Given the description of an element on the screen output the (x, y) to click on. 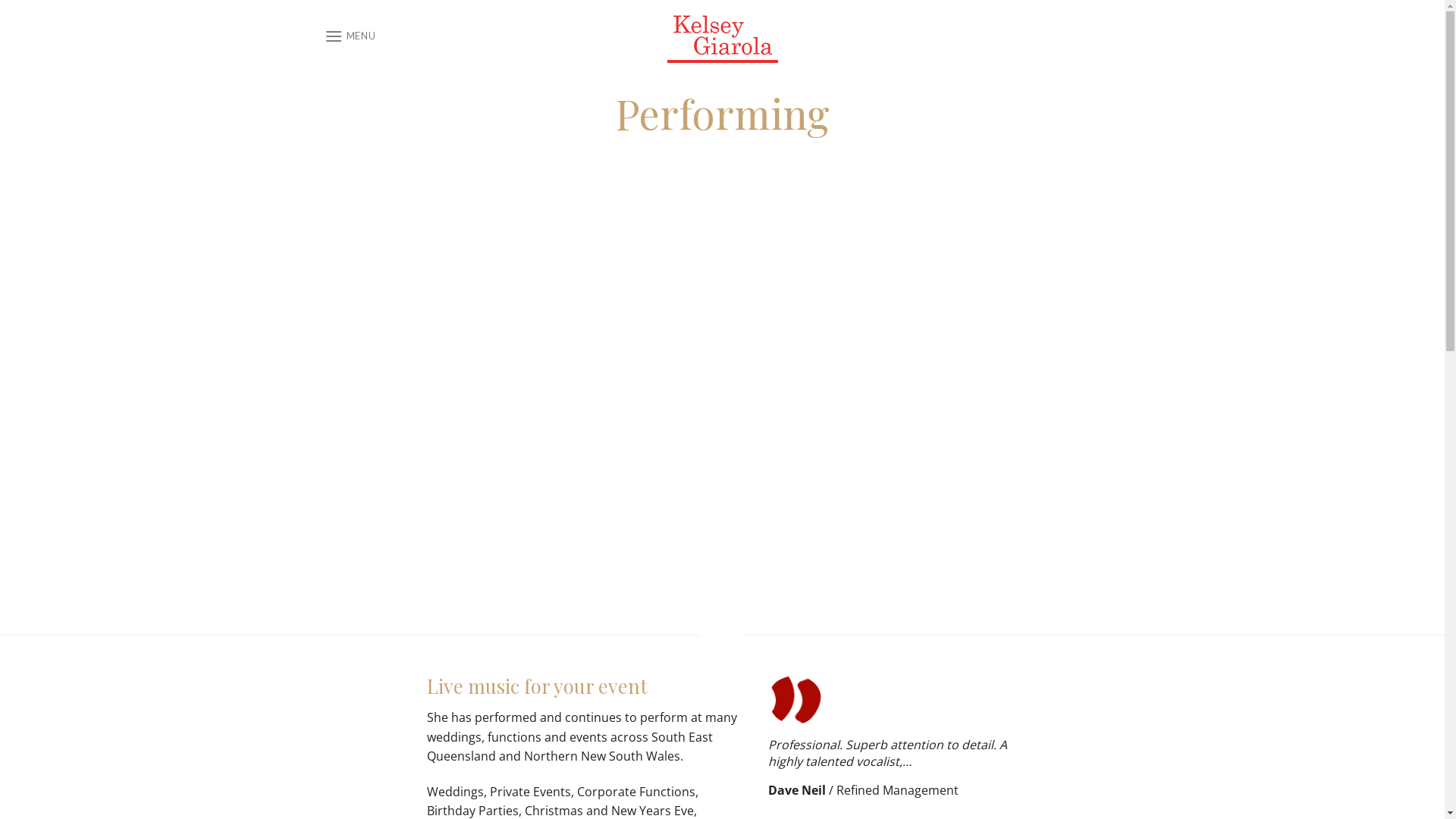
Kelsey Giarola   Promo Video Element type: hover (722, 402)
Kelsey Giarola - Performing, Vocal Coaching, Originals Element type: hover (722, 36)
MENU Element type: text (350, 35)
